Given the description of an element on the screen output the (x, y) to click on. 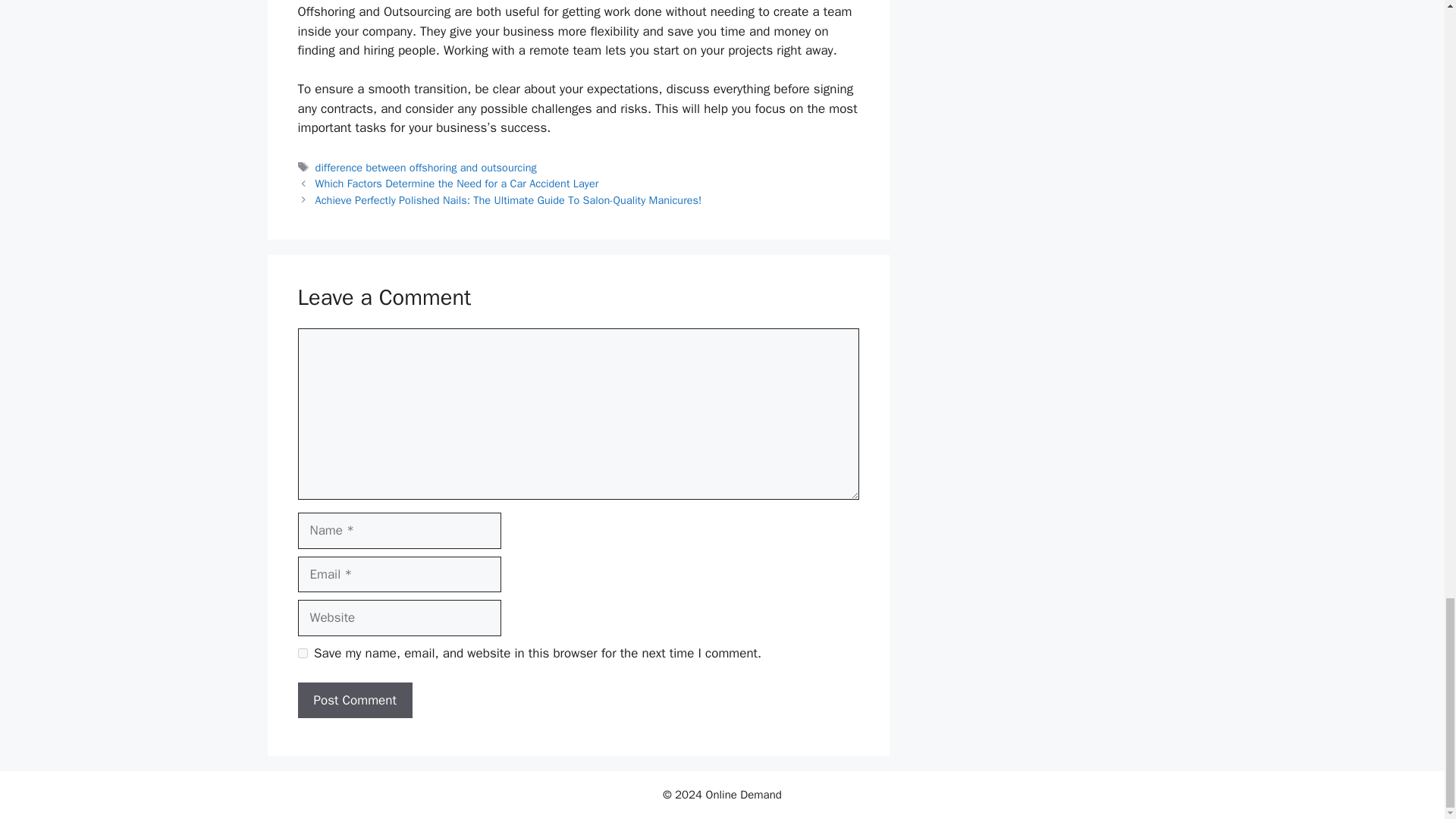
Post Comment (354, 700)
yes (302, 653)
difference between offshoring and outsourcing (426, 167)
Which Factors Determine the Need for a Car Accident Layer (456, 183)
Post Comment (354, 700)
